Given the description of an element on the screen output the (x, y) to click on. 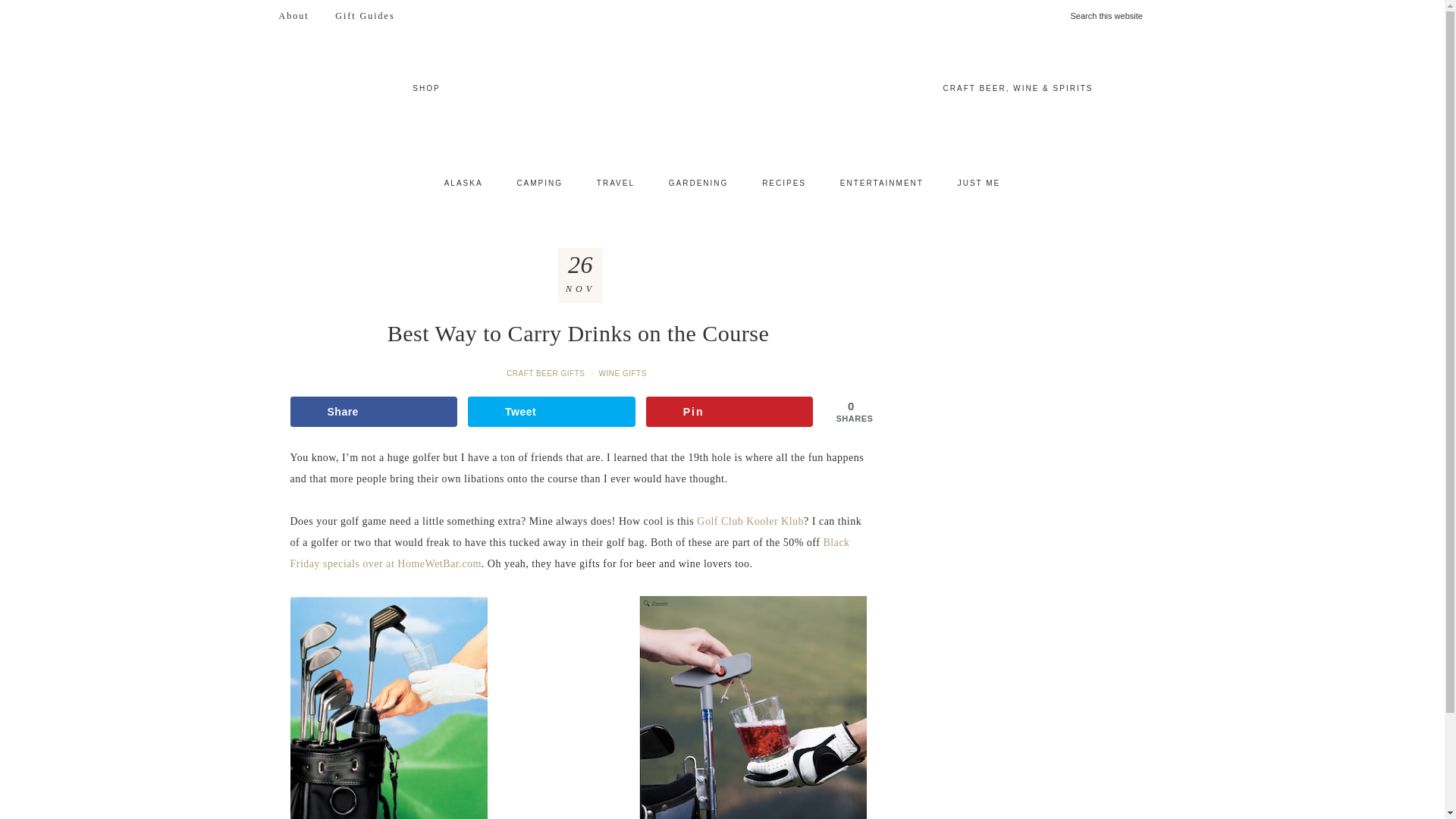
CAMPING (539, 183)
ENTERTAINMENT (882, 183)
RECIPES (783, 183)
Share on Twitter (550, 411)
Share on Facebook (373, 411)
SHOP (425, 88)
TRAVEL (614, 183)
Save to Pinterest (729, 411)
About (293, 15)
KRISTI TRIMMER (722, 97)
